Given the description of an element on the screen output the (x, y) to click on. 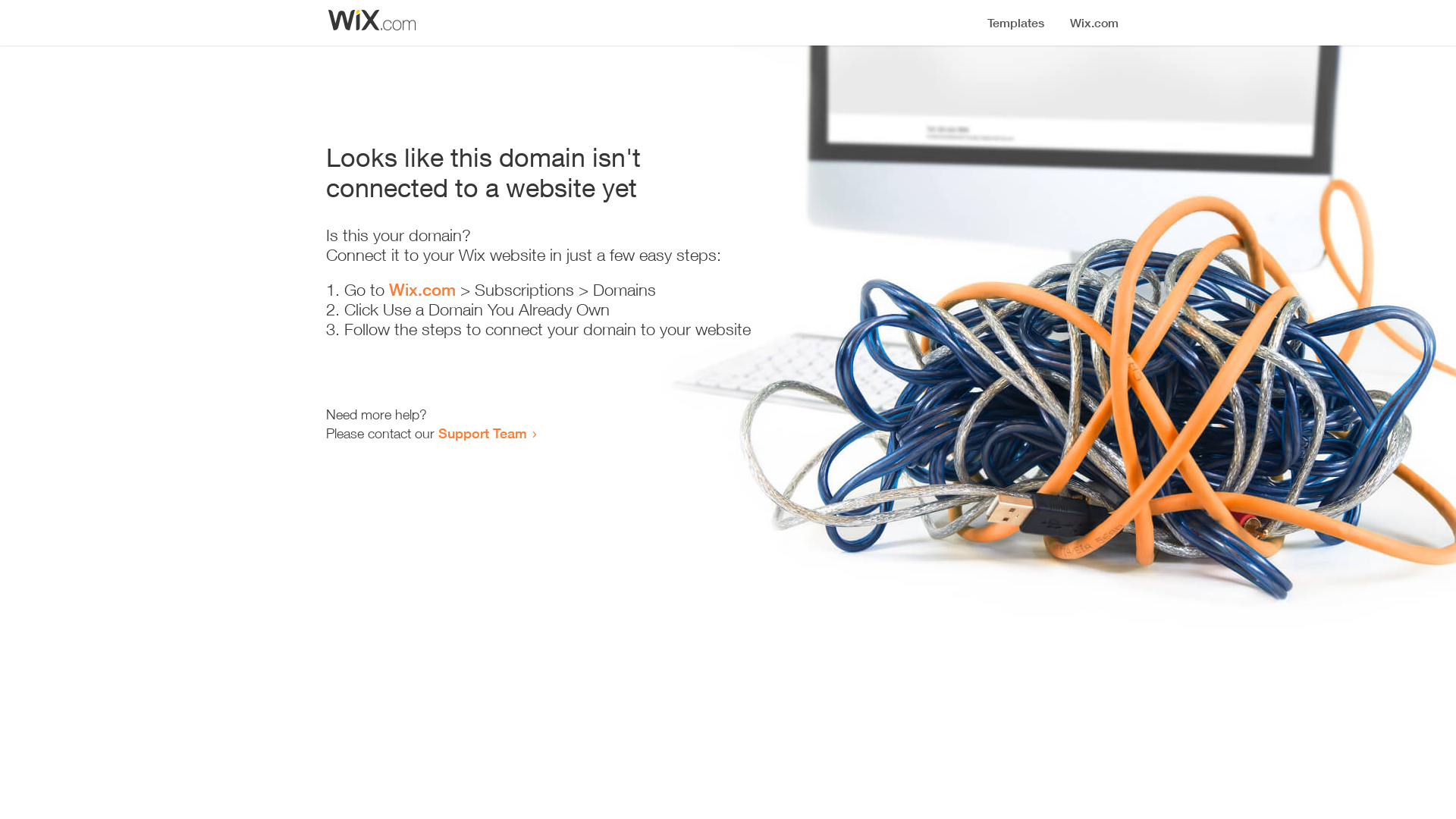
Wix.com Element type: text (422, 289)
Support Team Element type: text (482, 432)
